Given the description of an element on the screen output the (x, y) to click on. 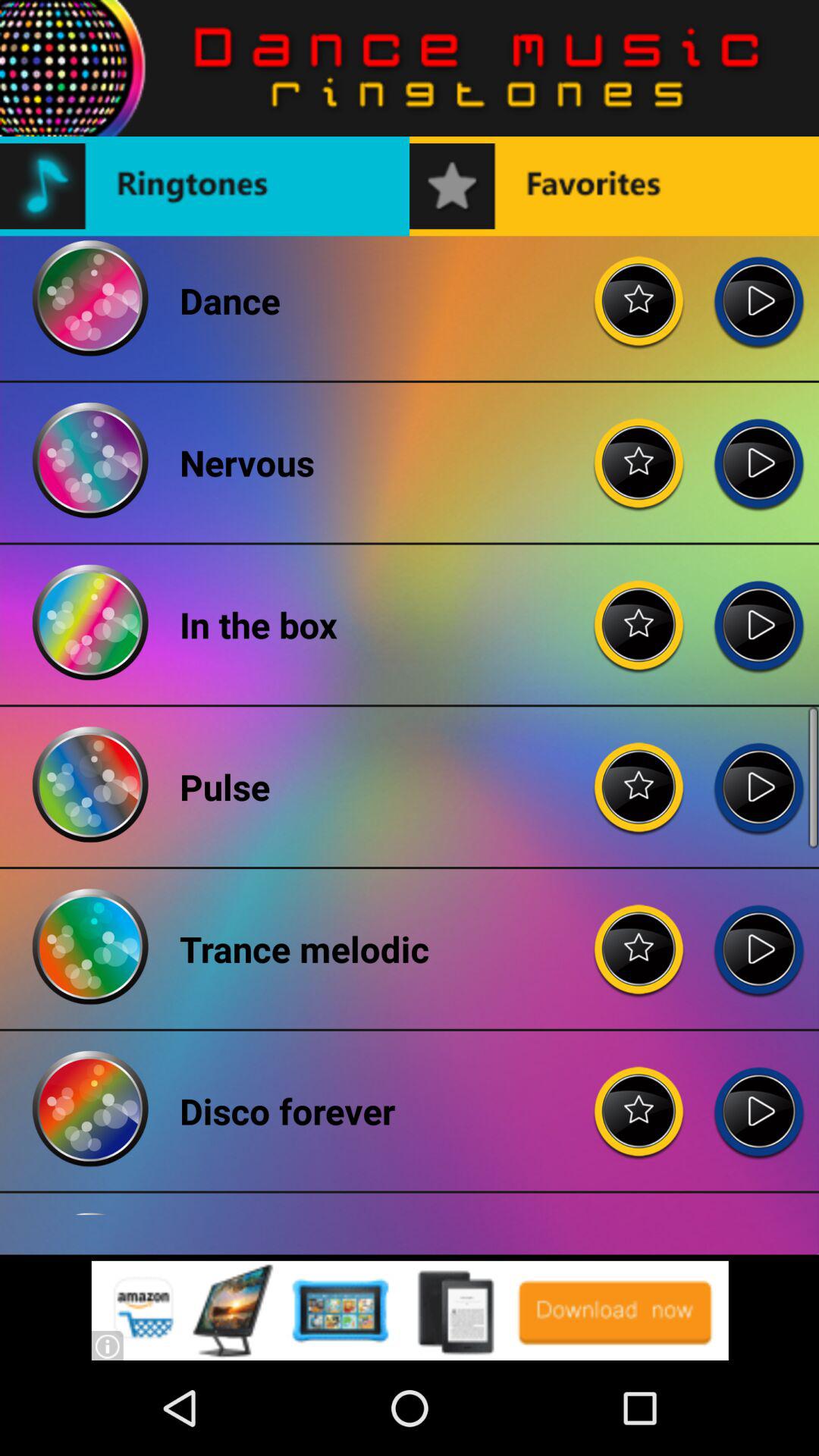
add to favourites (639, 451)
